Given the description of an element on the screen output the (x, y) to click on. 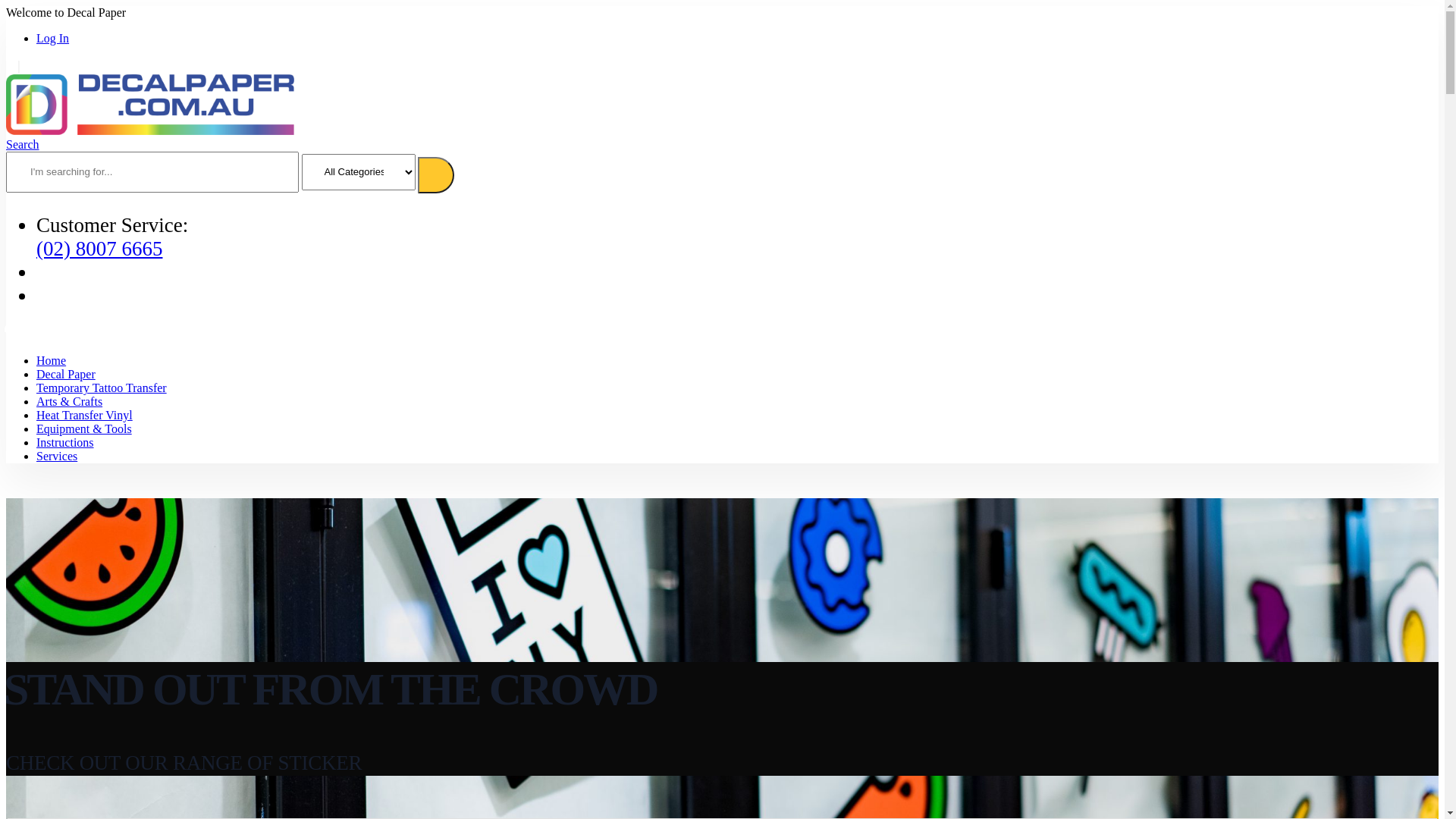
Search Element type: hover (435, 174)
Decal Paper - Customised Decals & Transfers Element type: hover (150, 130)
Search Element type: text (22, 144)
Home Element type: text (50, 360)
Heat Transfer Vinyl Element type: text (84, 414)
Decal Paper Element type: text (65, 373)
Arts & Crafts Element type: text (69, 401)
Log In Element type: text (52, 37)
Temporary Tattoo Transfer Element type: text (101, 387)
Instructions Element type: text (65, 442)
Services Element type: text (56, 455)
Equipment & Tools Element type: text (83, 428)
(02) 8007 6665 Element type: text (99, 248)
